Given the description of an element on the screen output the (x, y) to click on. 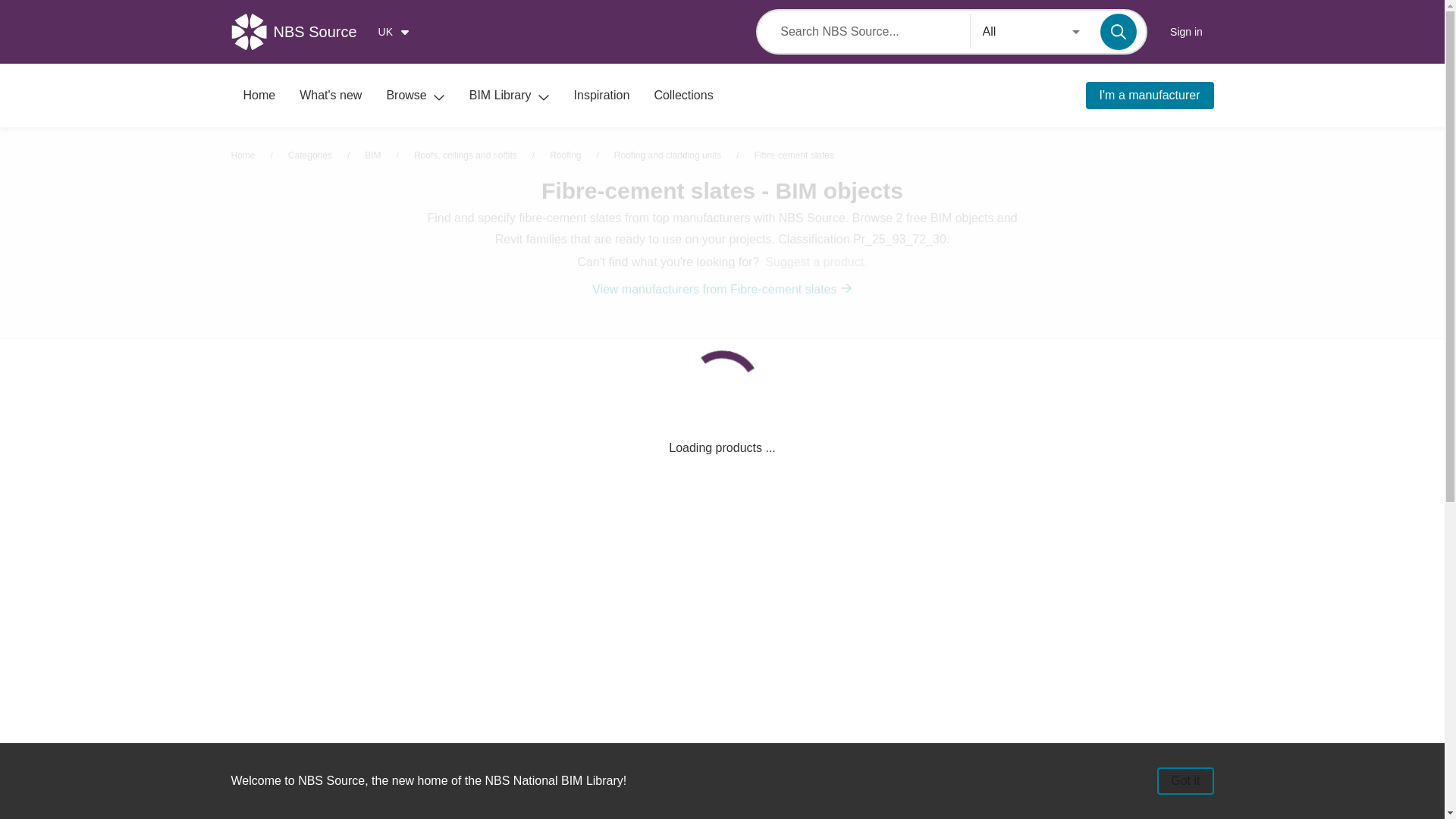
Browse what's new (330, 95)
Roofing (565, 155)
Browse inspiration (602, 95)
NBS Source (299, 31)
BIM Library (509, 95)
Browse (415, 95)
Collections (683, 95)
Inspiration (602, 95)
BIM Library (509, 95)
Collections (683, 95)
